Given the description of an element on the screen output the (x, y) to click on. 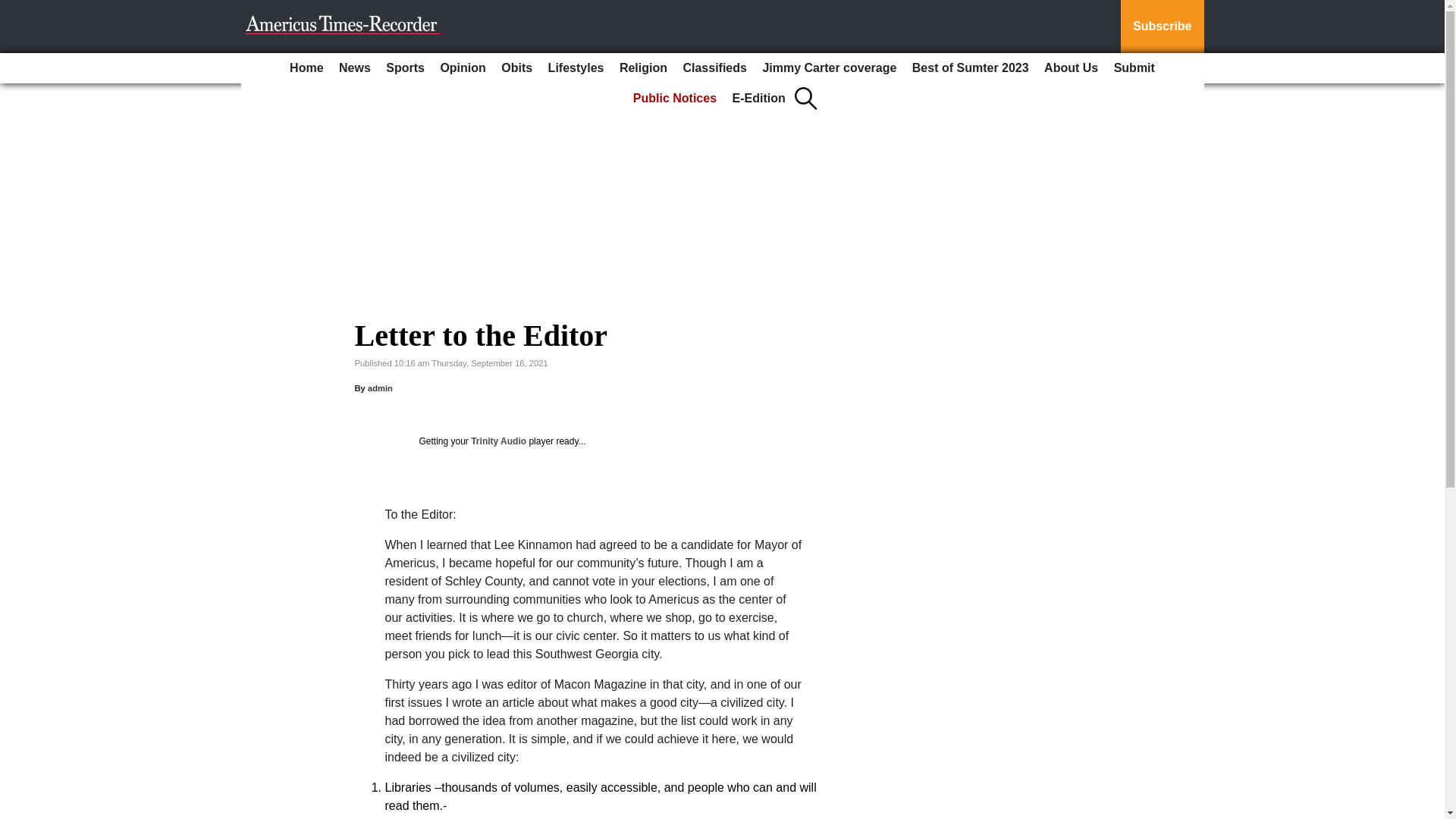
About Us (1070, 68)
Opinion (462, 68)
Trinity Audio (497, 440)
Religion (642, 68)
Best of Sumter 2023 (970, 68)
Jimmy Carter coverage (828, 68)
Sports (405, 68)
Subscribe (1162, 26)
Public Notices (674, 98)
Submit (1134, 68)
